Given the description of an element on the screen output the (x, y) to click on. 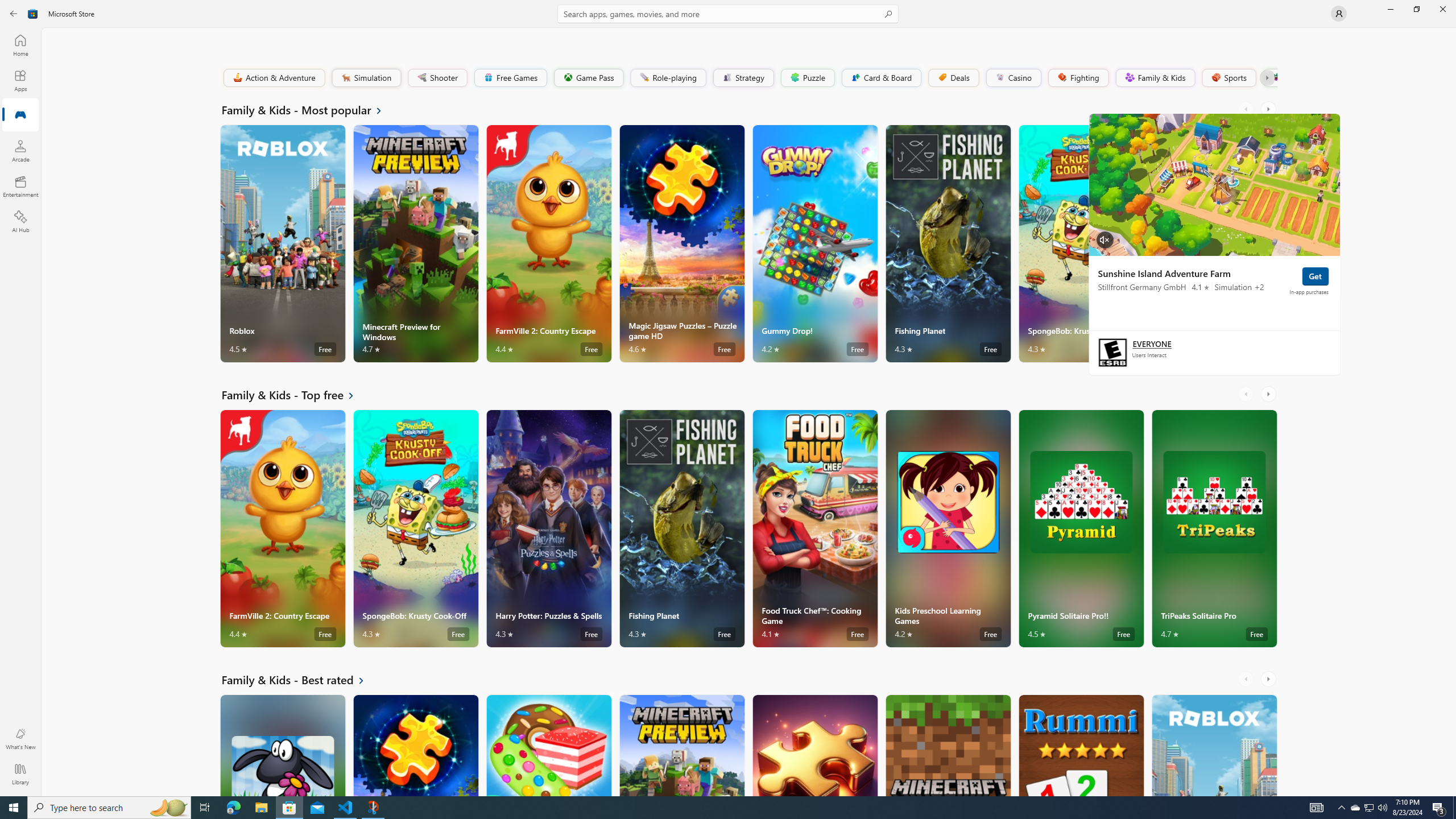
Mute (1103, 239)
Deals (952, 77)
Strategy (742, 77)
Rummi. Average rating of 4.6 out of five stars. Free   (1080, 745)
AutomationID: RightScrollButton (1269, 678)
Back (13, 13)
Free Games (509, 77)
Puzzle (807, 77)
Class: Button (1266, 77)
Platformer (1269, 77)
Game Pass (588, 77)
Casino (1013, 77)
